Given the description of an element on the screen output the (x, y) to click on. 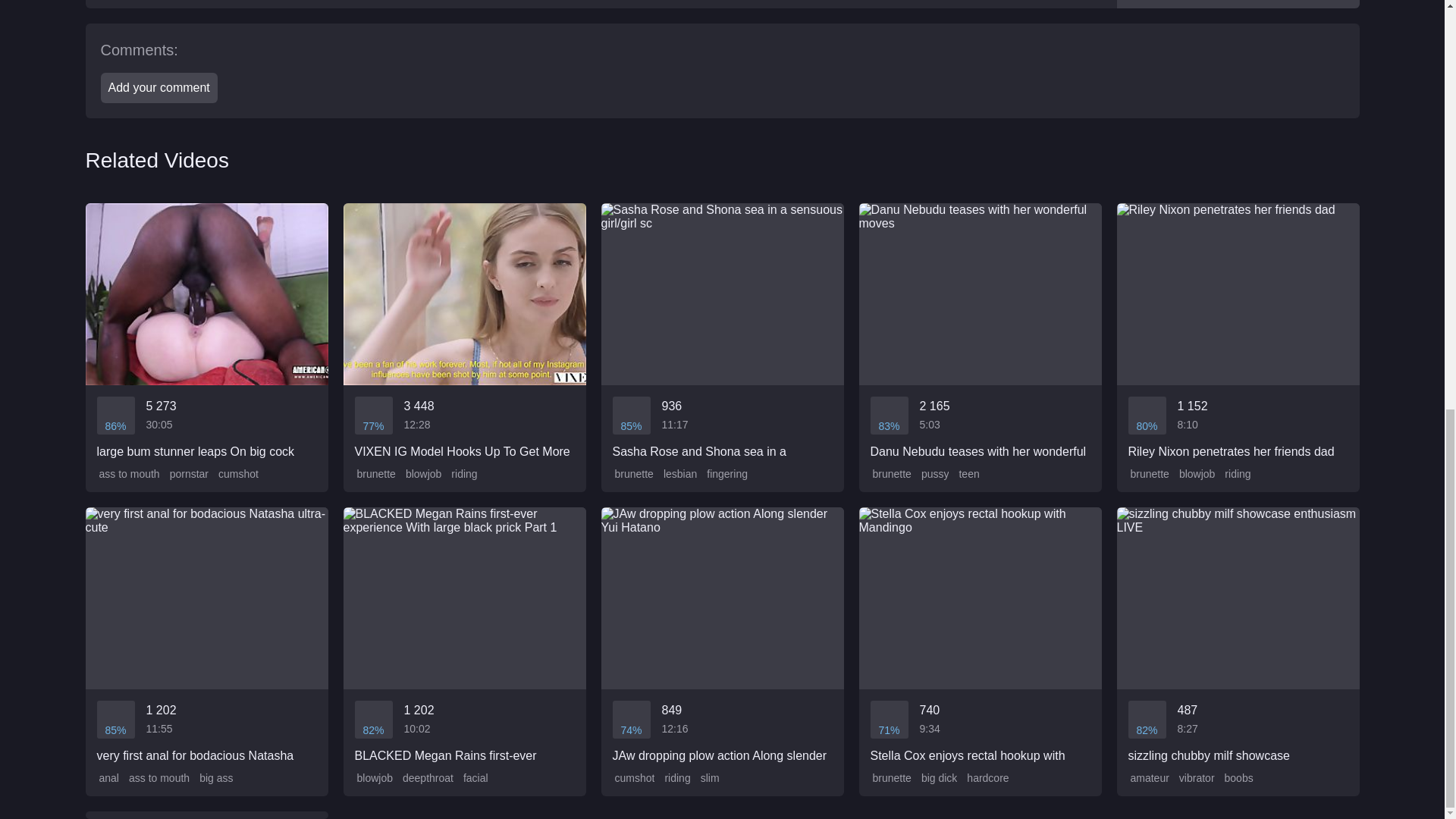
pornstar (187, 473)
blowjob (422, 473)
brunette (1148, 473)
ass to mouth (157, 777)
VIXEN IG Model Hooks Up To Get More (463, 331)
anal (108, 777)
Danu Nebudu teases with her wonderful (979, 331)
pussy (933, 473)
brunette (375, 473)
Riley Nixon penetrates her friends dad (1237, 331)
